Given the description of an element on the screen output the (x, y) to click on. 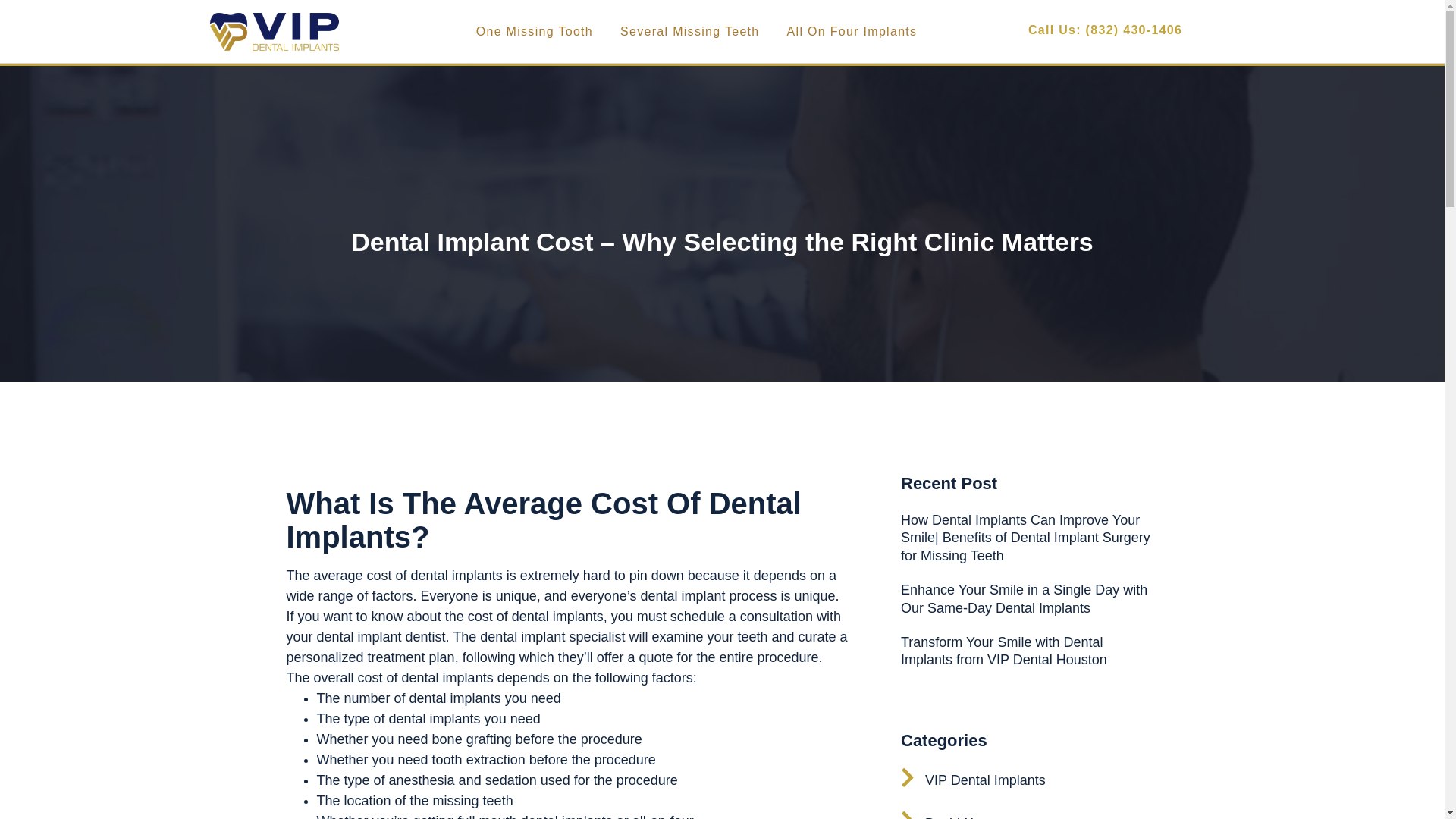
Several Missing Teeth (690, 31)
One Missing Tooth (535, 31)
David Nguyen (955, 814)
All On Four Implants (852, 31)
VIP Dental Implants (973, 780)
